Given the description of an element on the screen output the (x, y) to click on. 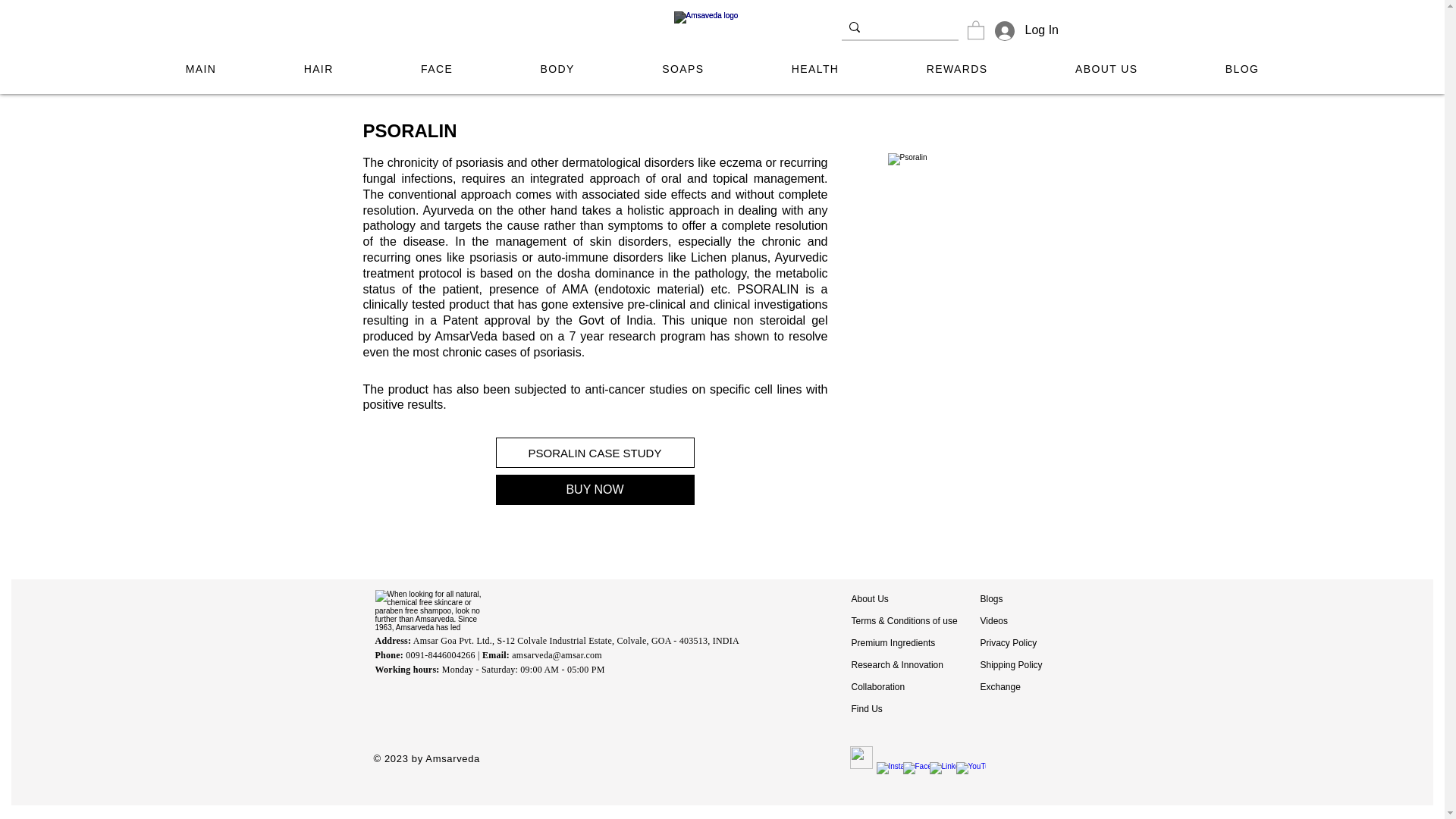
Log In (1014, 30)
FACE (436, 69)
HEALTH (815, 69)
MAIN (200, 69)
HAIR (318, 69)
SOAPS (683, 69)
BODY (557, 69)
